Given the description of an element on the screen output the (x, y) to click on. 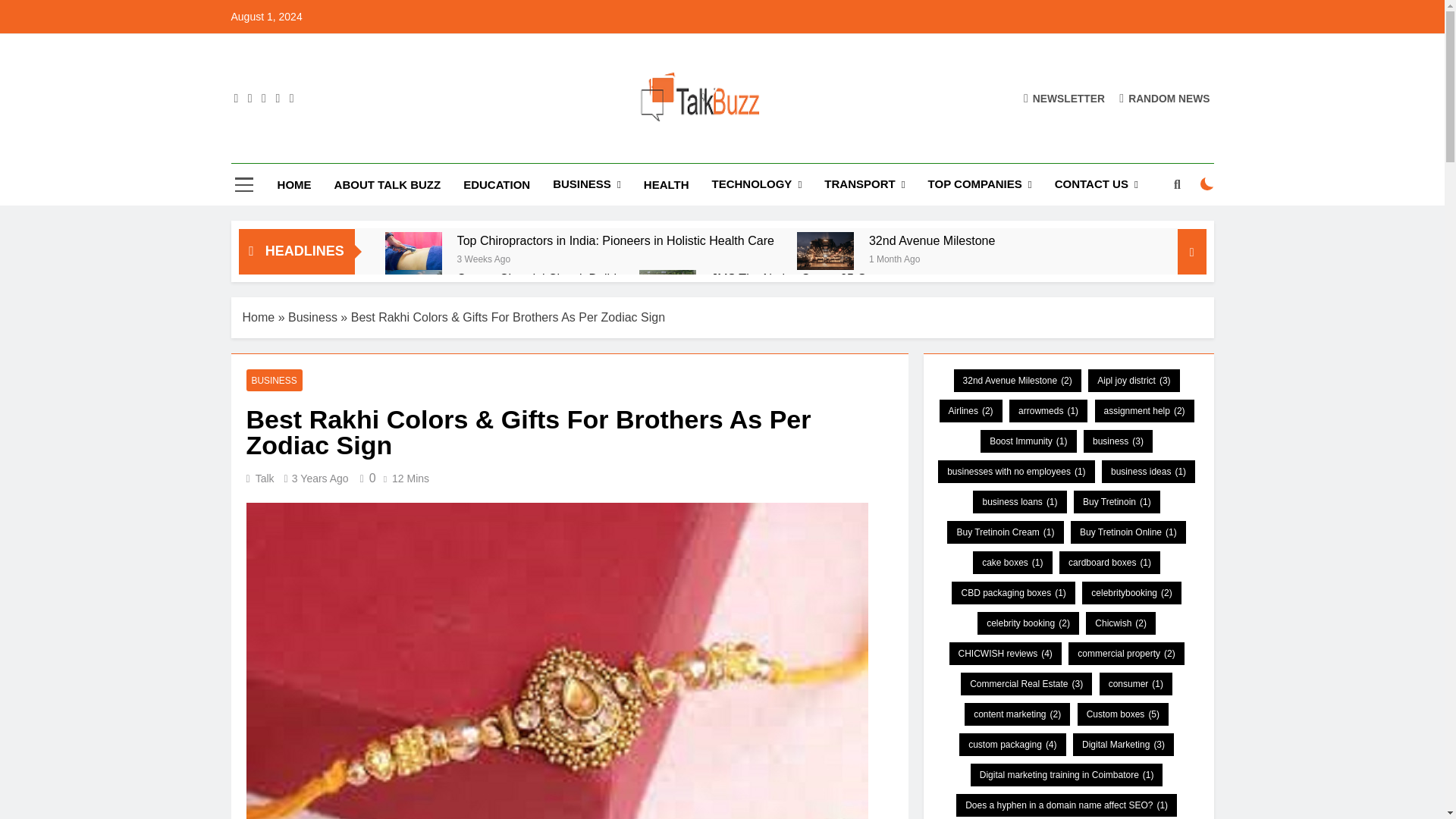
Top Chiropractors in India: Pioneers in Holistic Health Care (615, 240)
Top Chiropractors in India: Pioneers in Holistic Health Care (413, 250)
HOME (294, 184)
ABOUT TALK BUZZ (387, 184)
Talk Buzz (503, 149)
on (1206, 183)
NEWSLETTER (1064, 97)
32nd Avenue Milestone (824, 250)
EDUCATION (496, 184)
BUSINESS (586, 184)
